Given the description of an element on the screen output the (x, y) to click on. 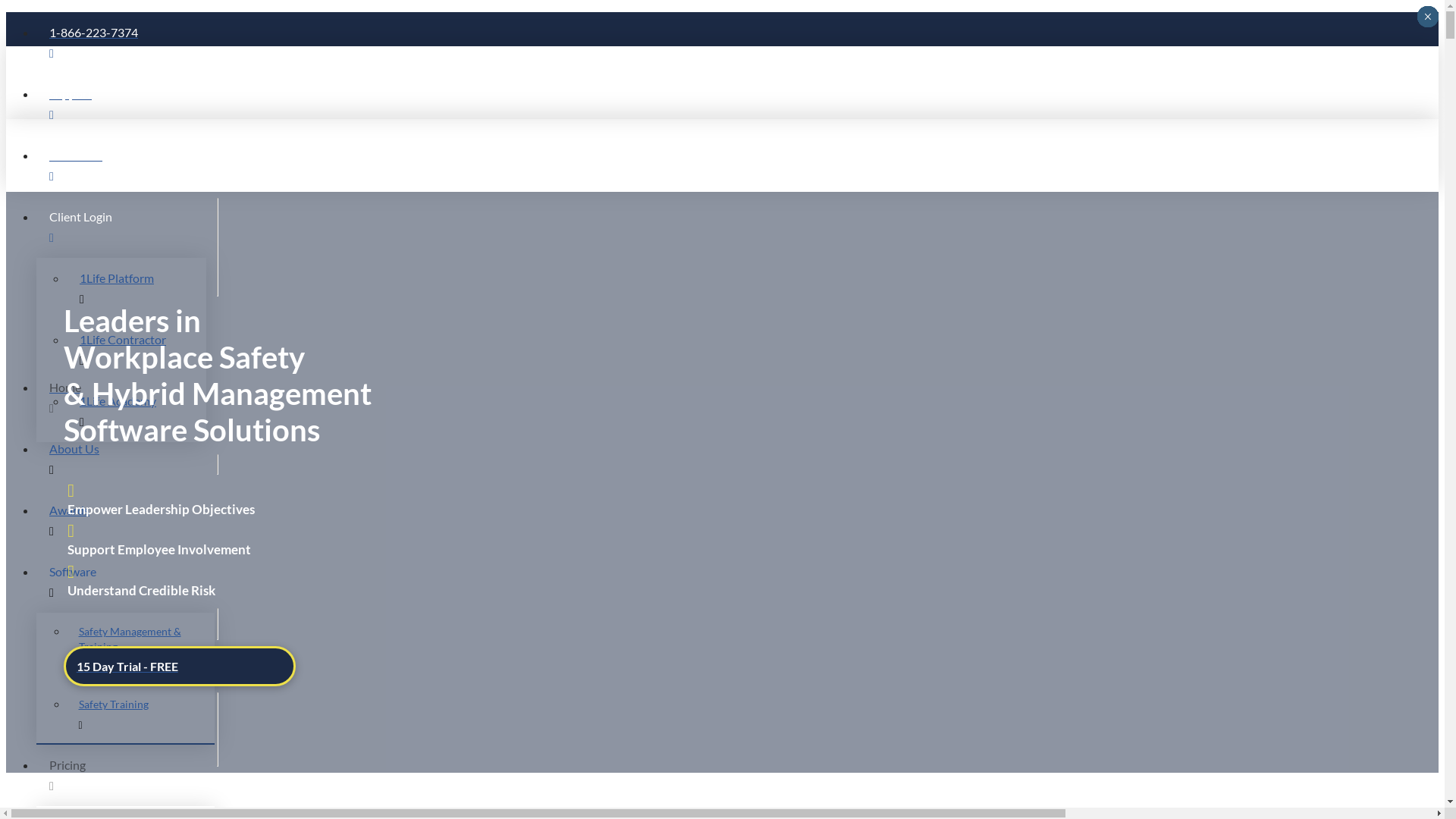
Support Element type: text (737, 103)
Awards Element type: text (737, 520)
Safety Management & Training Element type: text (140, 648)
1Life Contractor Element type: text (136, 349)
About Us Element type: text (737, 458)
Client Login Element type: text (737, 226)
Safety Training Element type: text (140, 714)
Pricing Element type: text (737, 775)
1Life Platform Element type: text (136, 288)
FREE Trial Element type: text (737, 165)
15 Day Trial - FREE Element type: text (179, 666)
1-866-223-7374 Element type: text (737, 42)
Home Element type: text (737, 397)
Software Element type: text (737, 580)
1Life Academy Element type: text (136, 411)
